Given the description of an element on the screen output the (x, y) to click on. 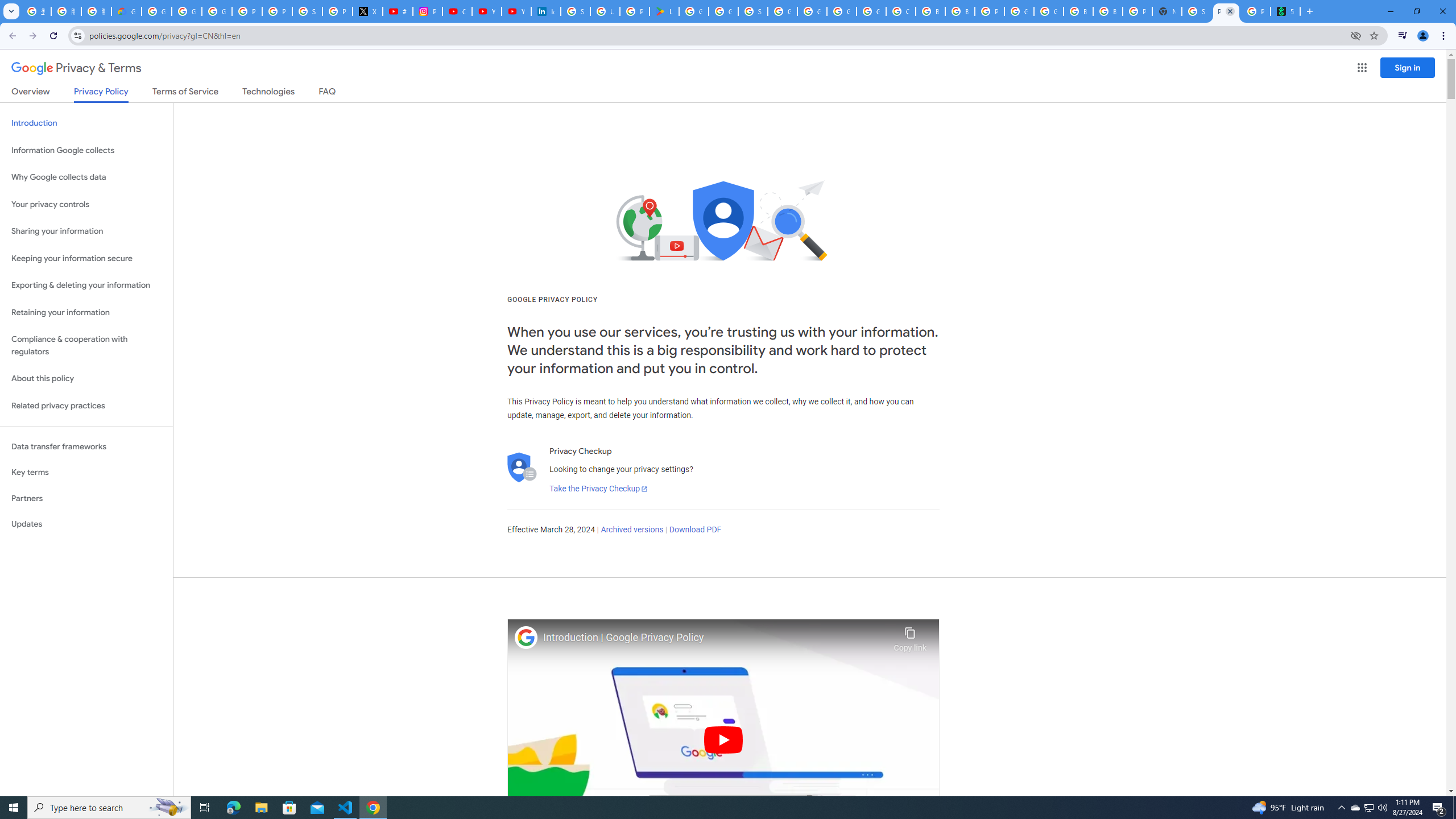
Sharing your information (86, 230)
Sign in - Google Accounts (306, 11)
Exporting & deleting your information (86, 284)
Browse Chrome as a guest - Computer - Google Chrome Help (930, 11)
Browse Chrome as a guest - Computer - Google Chrome Help (1077, 11)
